Given the description of an element on the screen output the (x, y) to click on. 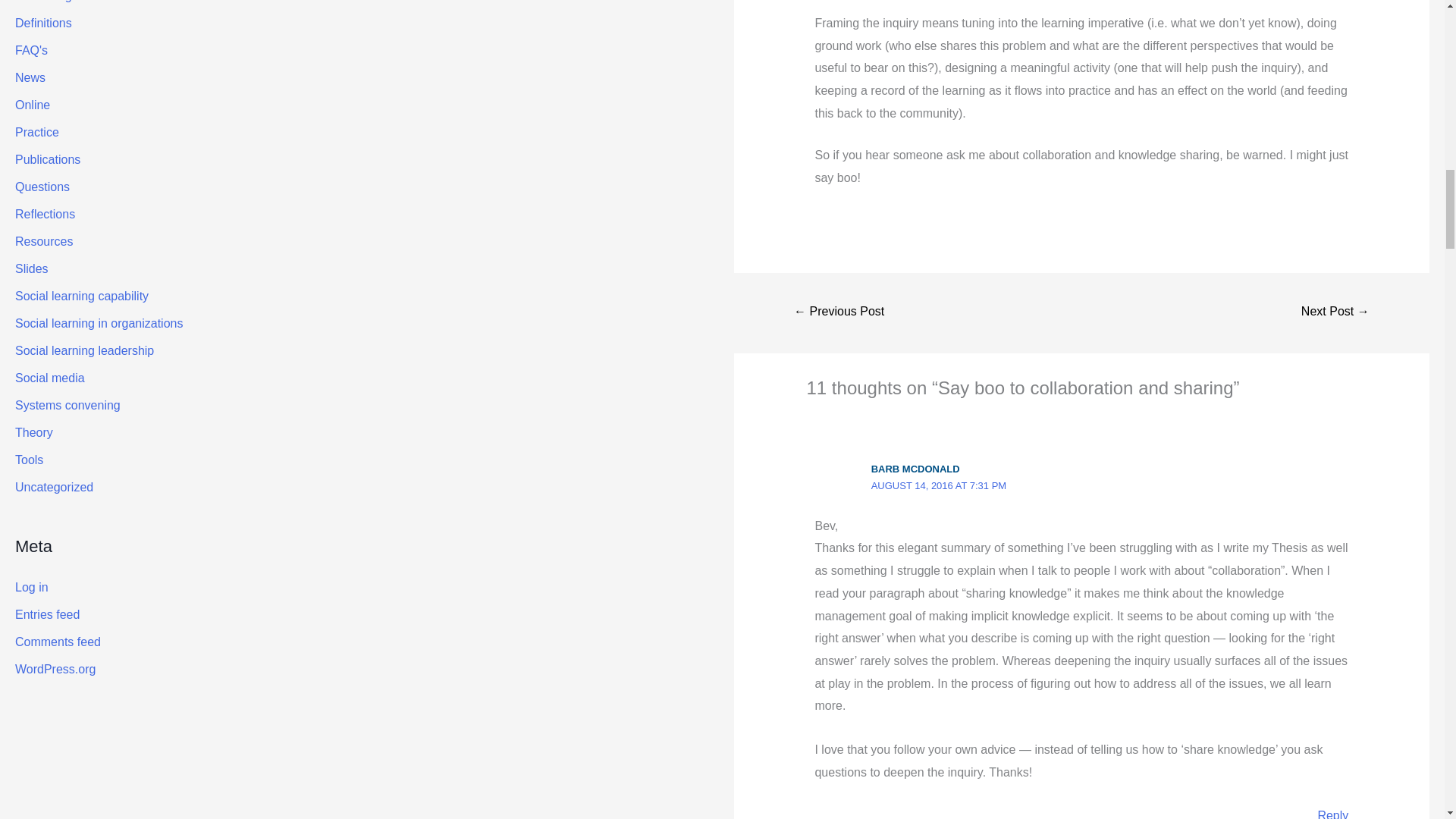
Social learning leadership (839, 312)
Etienne receives an Honorary PhD from Open University (1334, 312)
